Given the description of an element on the screen output the (x, y) to click on. 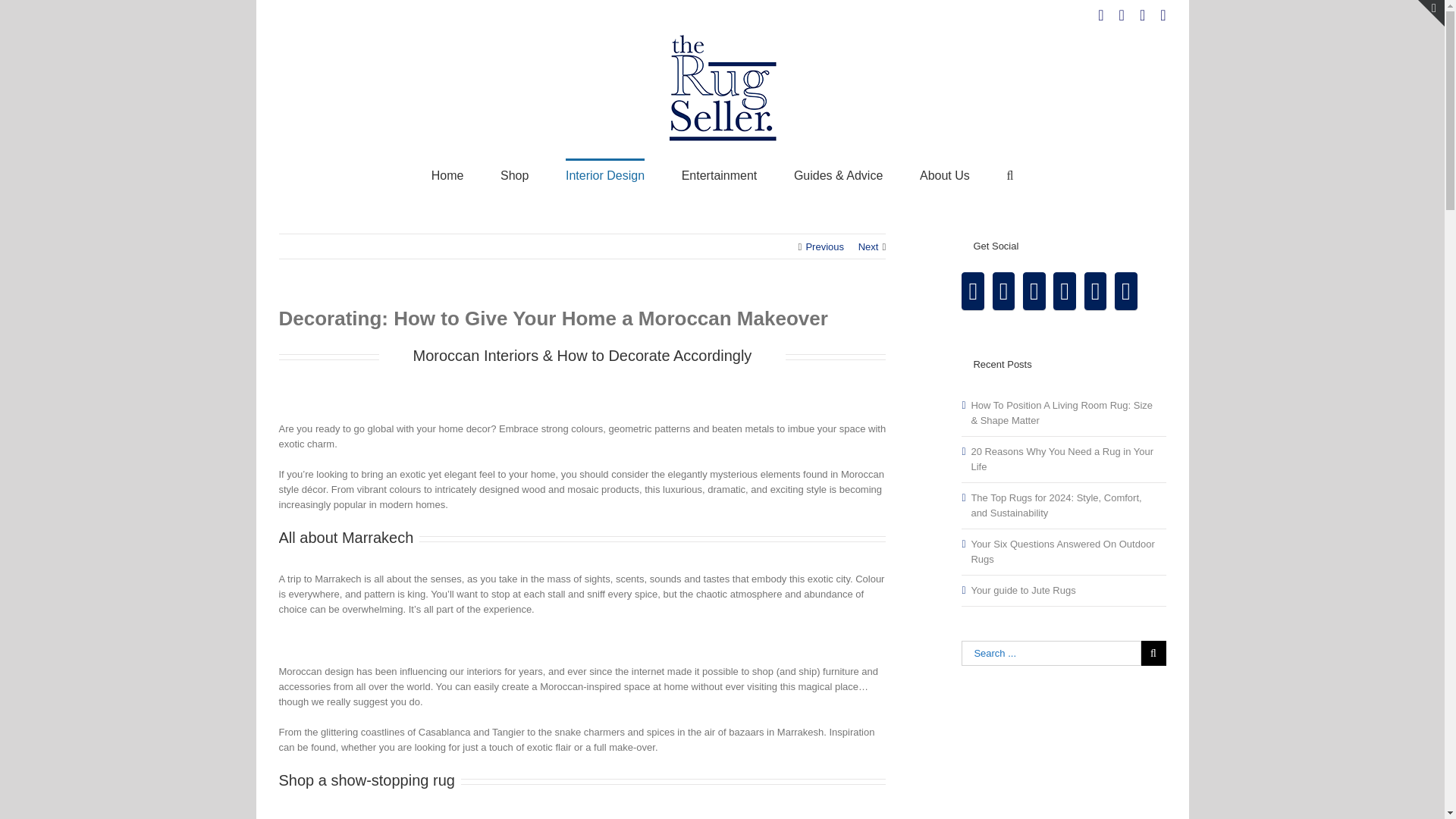
Home (447, 174)
Entertainment (719, 174)
Interior Design (605, 174)
